Given the description of an element on the screen output the (x, y) to click on. 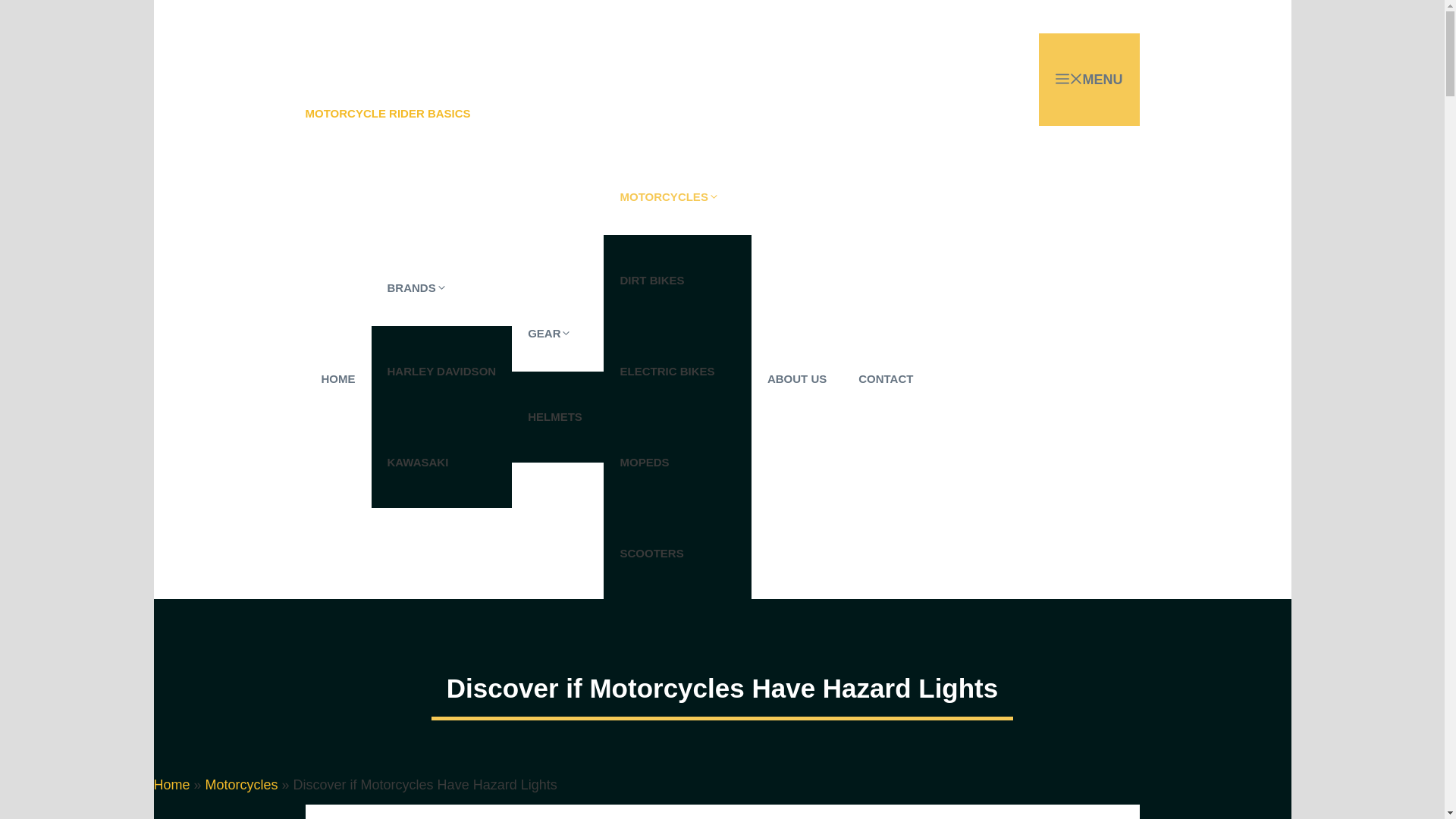
HARLEY DAVIDSON (441, 370)
SCOOTERS (677, 552)
GEAR (558, 333)
MOTORCYCLE RIDER BASICS (387, 113)
Home (170, 784)
ABOUT US (797, 378)
MOPEDS (677, 461)
DIRT BIKES (677, 280)
ELECTRIC BIKES (677, 370)
Motorcycles (241, 784)
Motorcycle Rider Basics (387, 38)
CONTACT (885, 378)
BRANDS (441, 287)
HELMETS (558, 416)
MOTORCYCLES (677, 196)
